Given the description of an element on the screen output the (x, y) to click on. 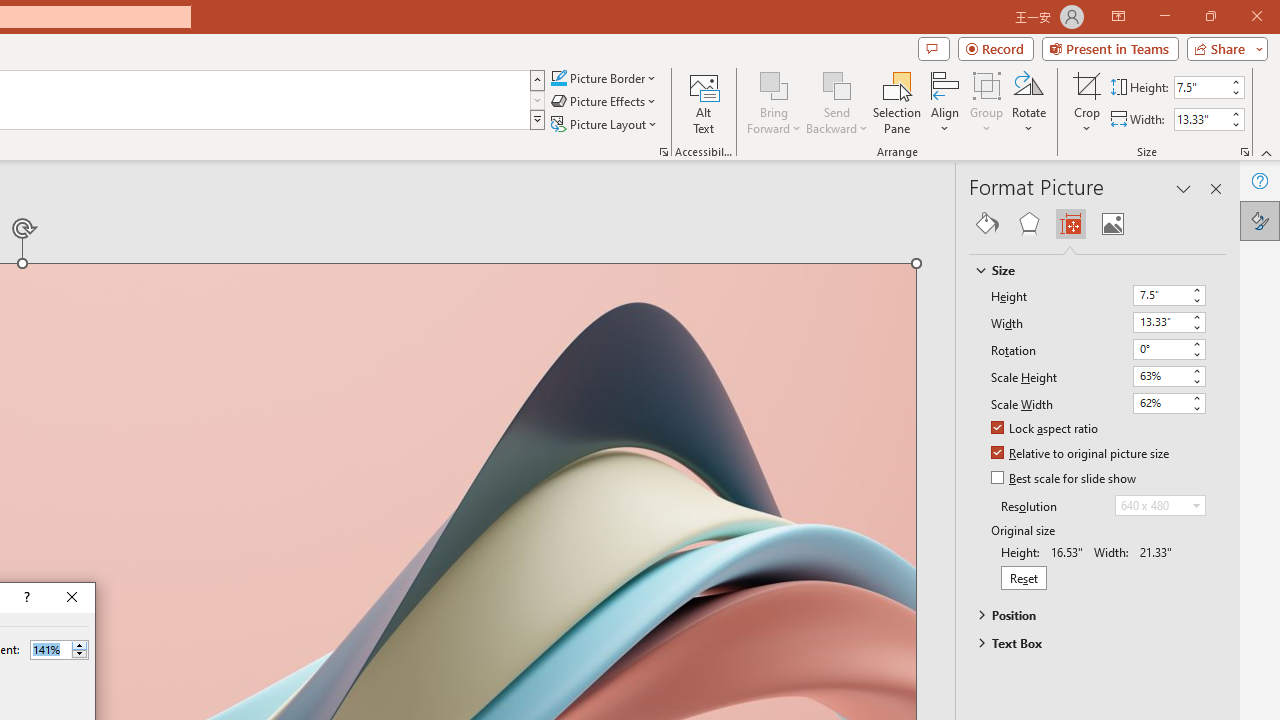
Send Backward (836, 84)
Picture Border (603, 78)
Picture Border Blue, Accent 1 (558, 78)
Shape Height (1201, 87)
Size and Position... (1244, 151)
Width (1168, 321)
Size & Properties (1070, 223)
Effects (1028, 223)
Selection Pane... (897, 102)
